Given the description of an element on the screen output the (x, y) to click on. 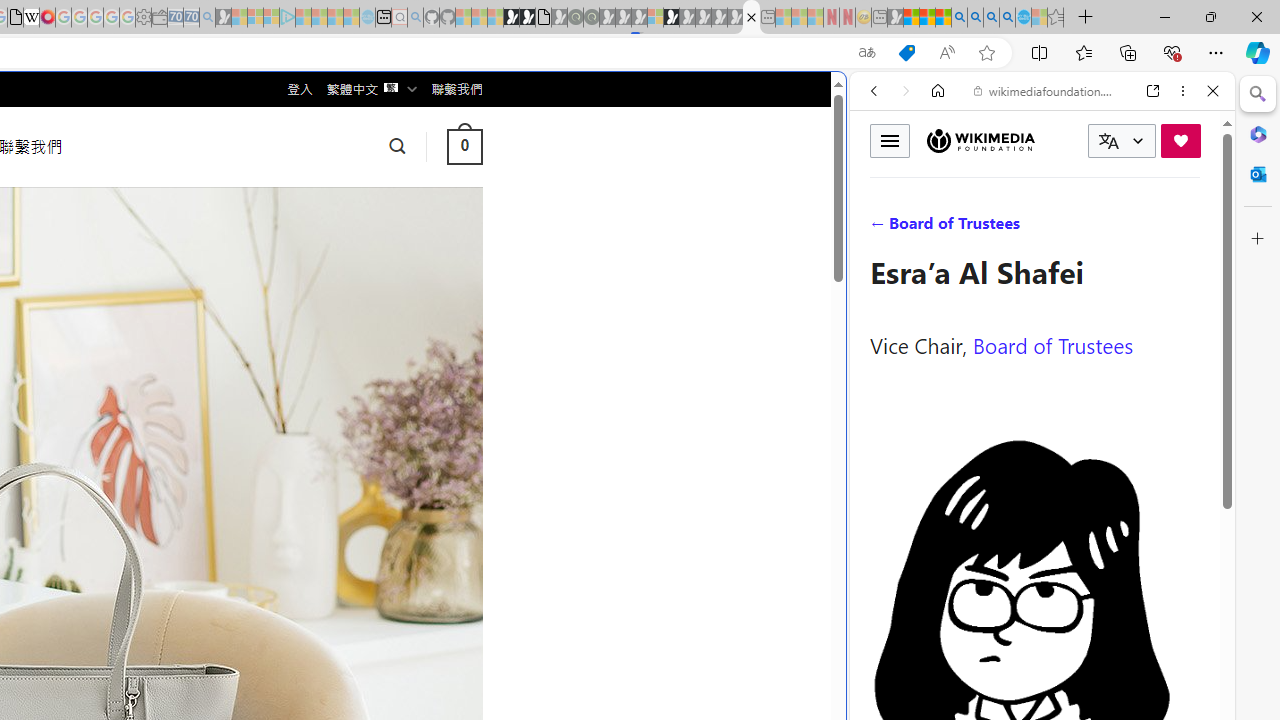
Nordace - Pollina Vegan Leather Collection (751, 17)
  0   (464, 146)
